Given the description of an element on the screen output the (x, y) to click on. 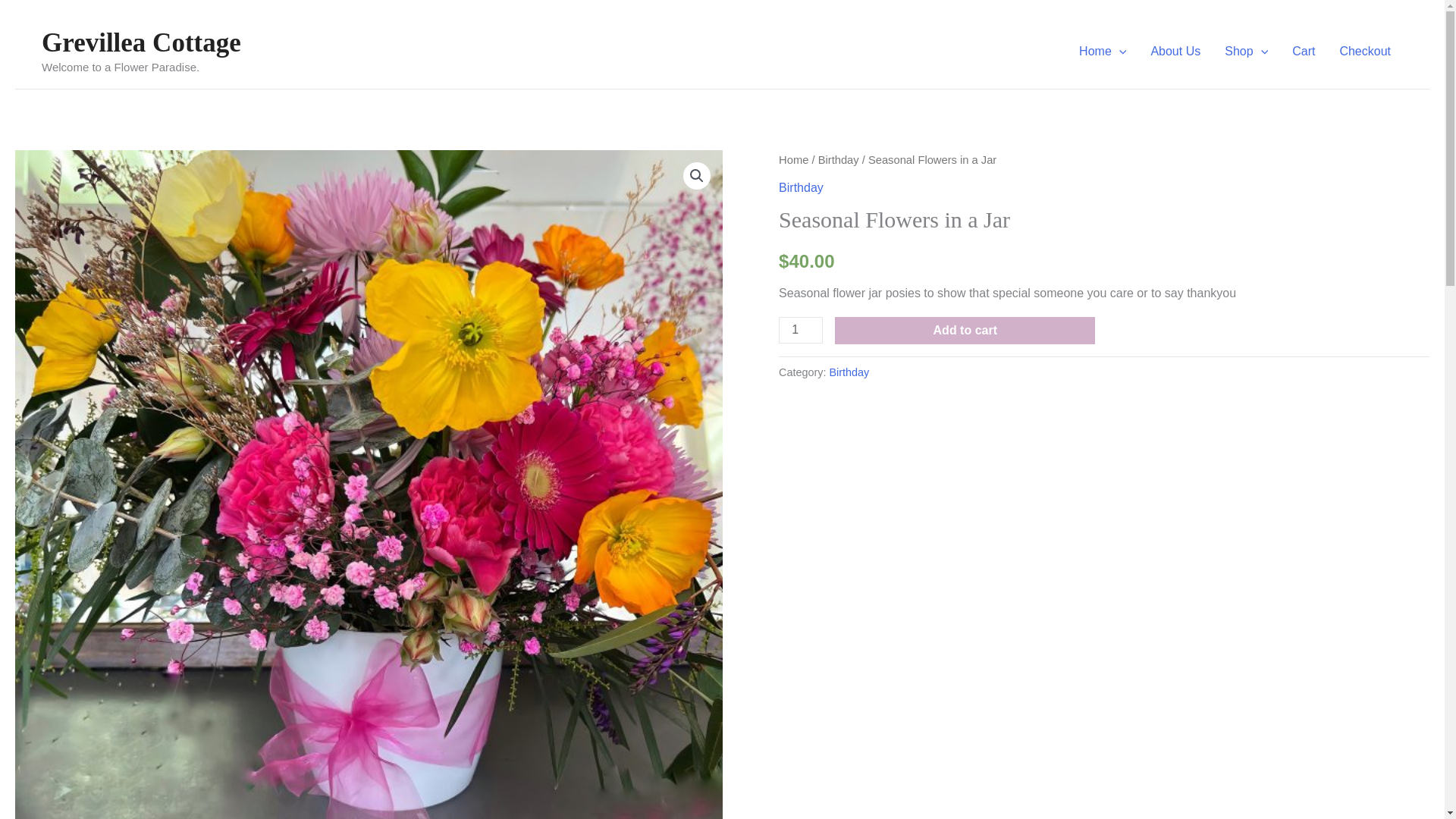
Birthday (801, 187)
Checkout (1364, 51)
Grevillea Cottage (141, 42)
1 (800, 329)
Home (1102, 51)
Birthday (838, 159)
Home (793, 159)
About Us (1175, 51)
Shop (1245, 51)
